Given the description of an element on the screen output the (x, y) to click on. 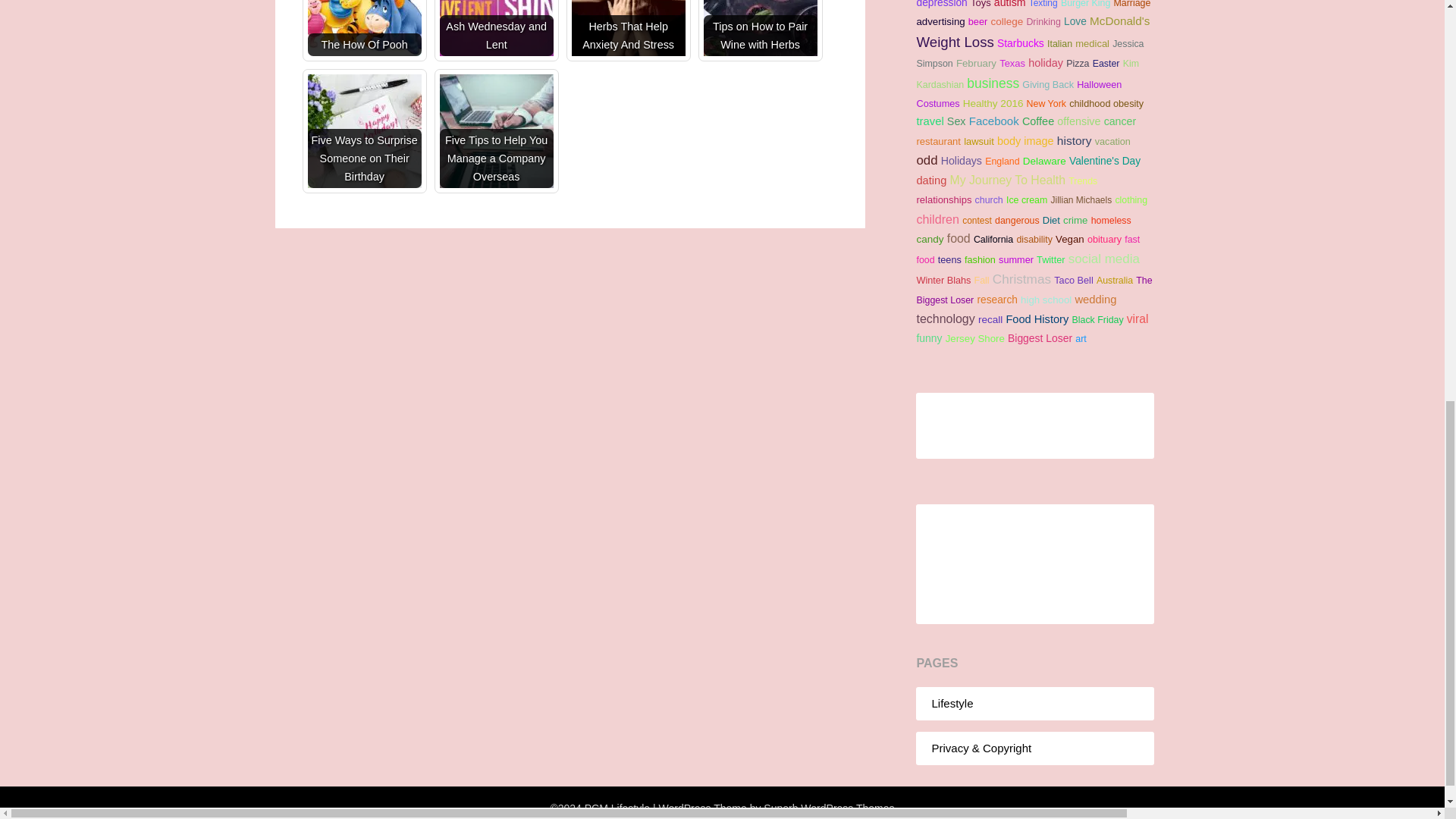
college (1006, 21)
The How Of Pooh (364, 28)
Five Ways to Surprise Someone on Their Birthday (364, 131)
Herbs That Help Anxiety And Stress (628, 28)
Five Tips to Help You Manage a Company Overseas (496, 131)
advertising (939, 21)
Burger King (1085, 4)
Love (1075, 21)
Tips on How to Pair Wine with Herbs (759, 28)
depression (940, 4)
